Given the description of an element on the screen output the (x, y) to click on. 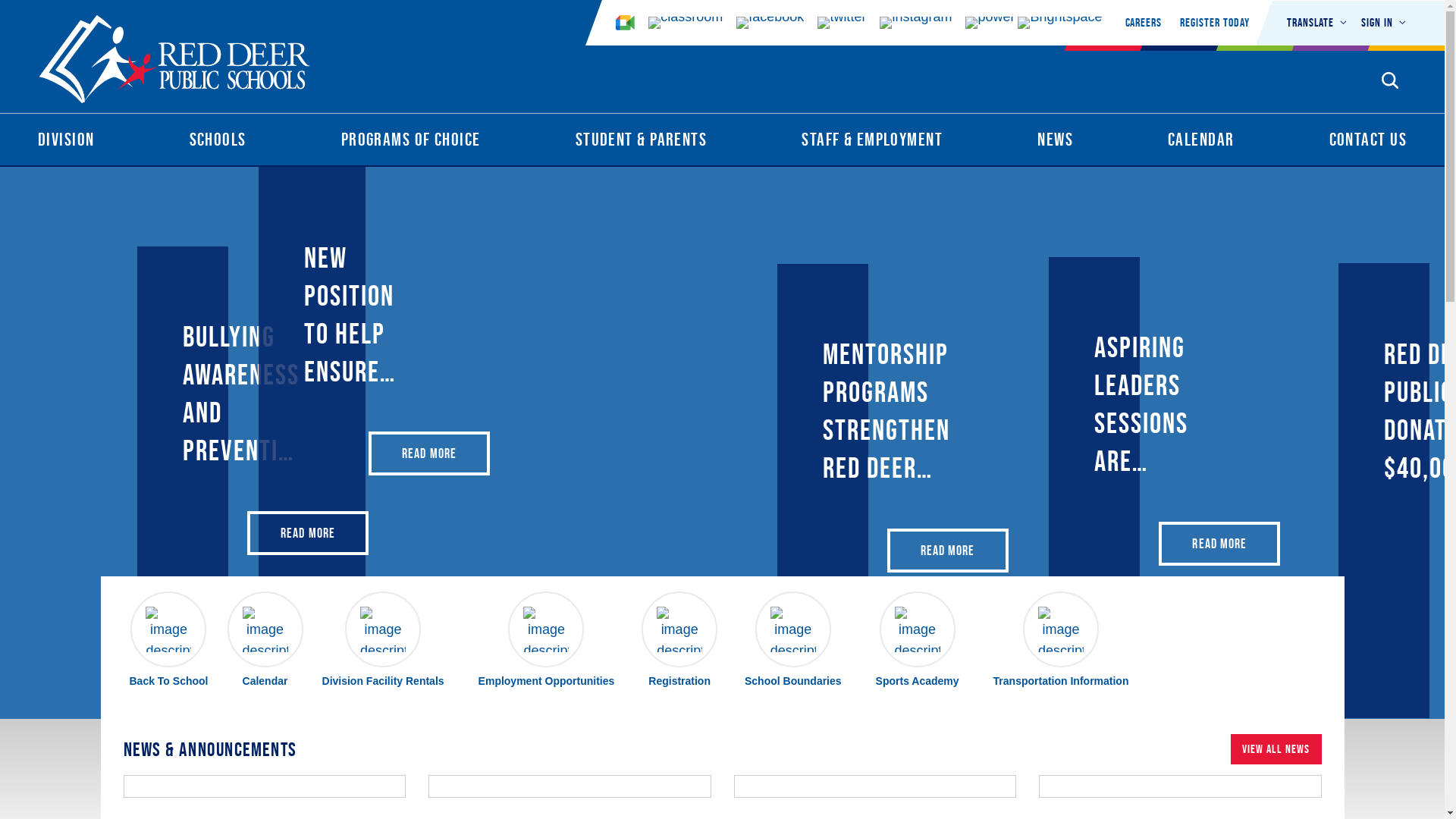
News Element type: text (1055, 142)
School Boundaries Element type: text (792, 640)
Sign In Element type: text (1383, 22)
Staff & Employment Element type: text (871, 142)
Transportation Information Element type: text (1061, 640)
Careers Element type: text (1143, 22)
READ MORE Element type: text (307, 533)
Aspiring Leaders sessions are back at Red Deer Public Element type: text (1141, 404)
Student & Parents Element type: text (640, 142)
Programs Of Choice Element type: text (410, 142)
Calendar Element type: text (1200, 142)
Search Opener Element type: text (1389, 80)
Contact Us Element type: text (1367, 142)
READ MORE Element type: text (947, 550)
VIEW ALL NEWS Element type: text (1275, 749)
Employment Opportunities Element type: text (546, 640)
Division Facility Rentals Element type: text (383, 640)
Bullying Awareness and Prevention Week Element type: text (243, 393)
Back To School Element type: text (167, 640)
Register Today Element type: text (1213, 22)
Calendar Element type: text (265, 640)
Schools Element type: text (217, 142)
READ MORE Element type: text (428, 453)
READ MORE Element type: text (1219, 543)
Registration Element type: text (679, 640)
Sports Academy Element type: text (917, 640)
Division Element type: text (65, 142)
Translate Element type: text (1317, 22)
Mentorship programs strengthen Red Deer Public Schools Element type: text (886, 410)
